Given the description of an element on the screen output the (x, y) to click on. 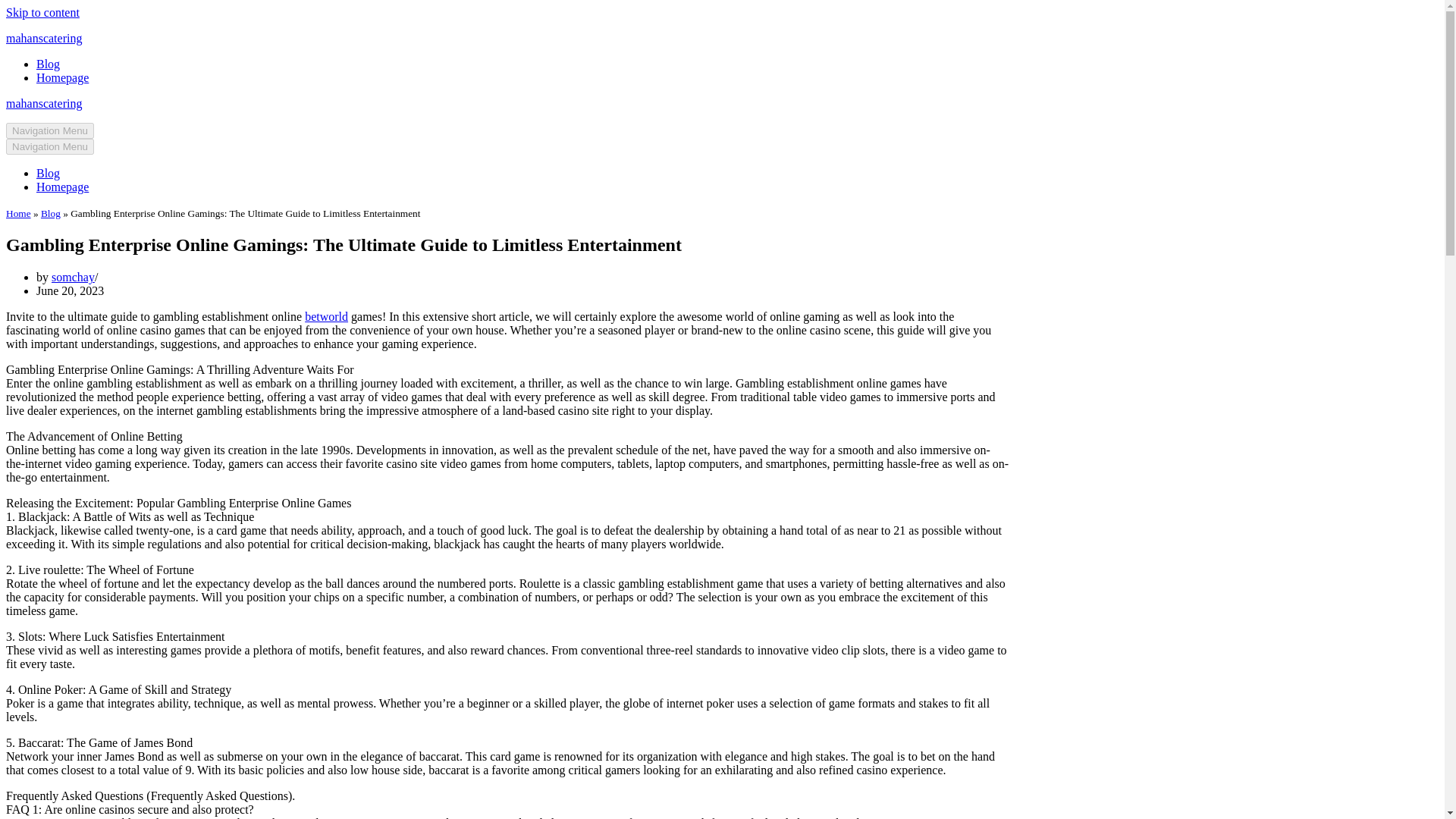
Home (17, 213)
somchay (72, 277)
Homepage (62, 186)
Blog (47, 173)
Blog (50, 213)
betworld (325, 316)
Blog (47, 63)
Navigation Menu (49, 130)
Posts by somchay (72, 277)
Navigation Menu (49, 146)
Skip to content (42, 11)
Homepage (62, 77)
